Given the description of an element on the screen output the (x, y) to click on. 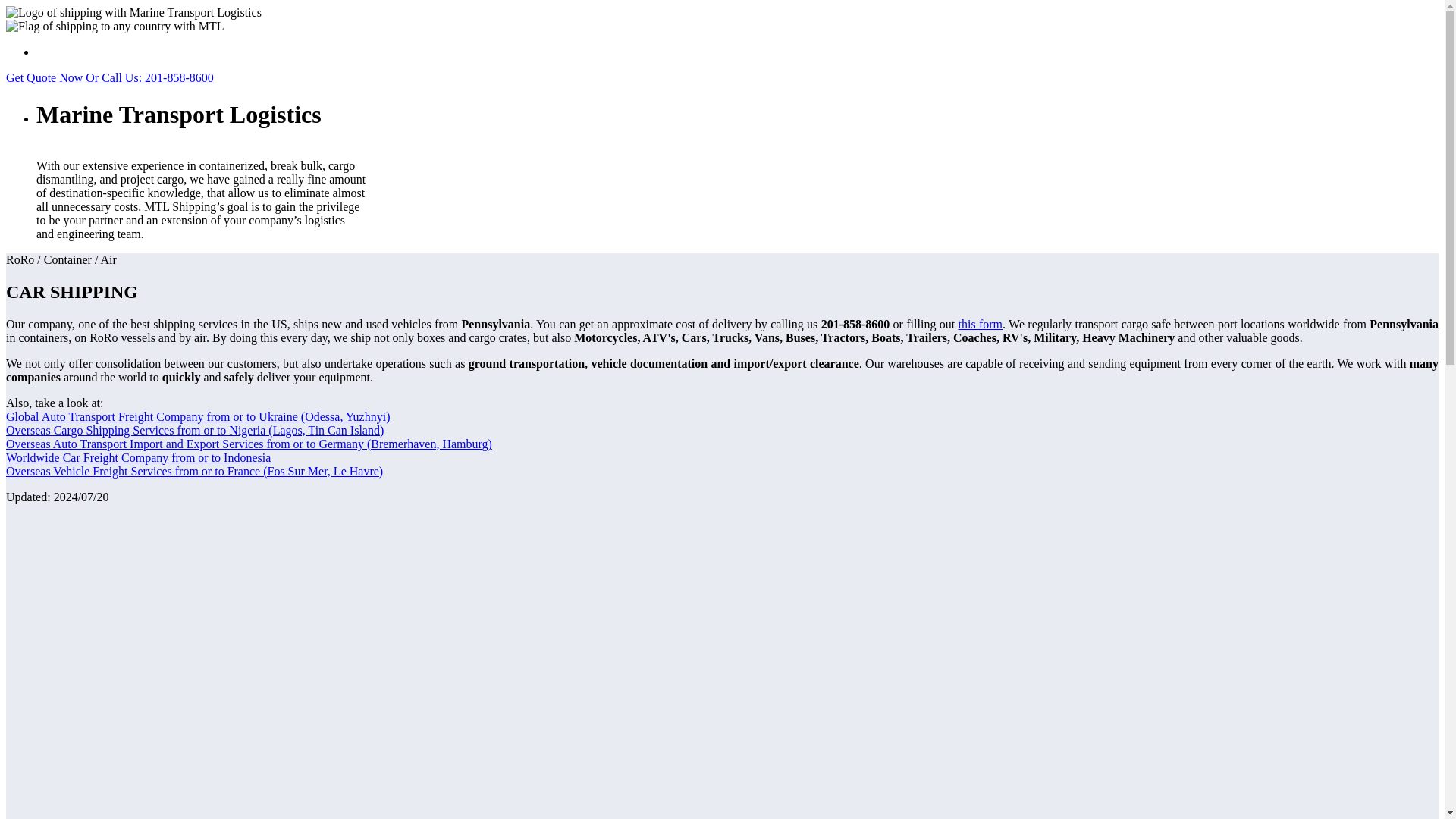
Overseas Cargo Import and Export Services to or from Nigeria (194, 430)
Contact our sales manager by phone (148, 77)
Fast quote request right now (43, 77)
Worldwide Car Freight Company from or to Indonesia (137, 457)
Global Car Import and Export Company to or from France (193, 471)
Overseas Auto Transport Freight Company to or from Germany (248, 443)
Get Quote Now (43, 77)
this form (980, 323)
Or Call Us: 201-858-8600 (148, 77)
